Given the description of an element on the screen output the (x, y) to click on. 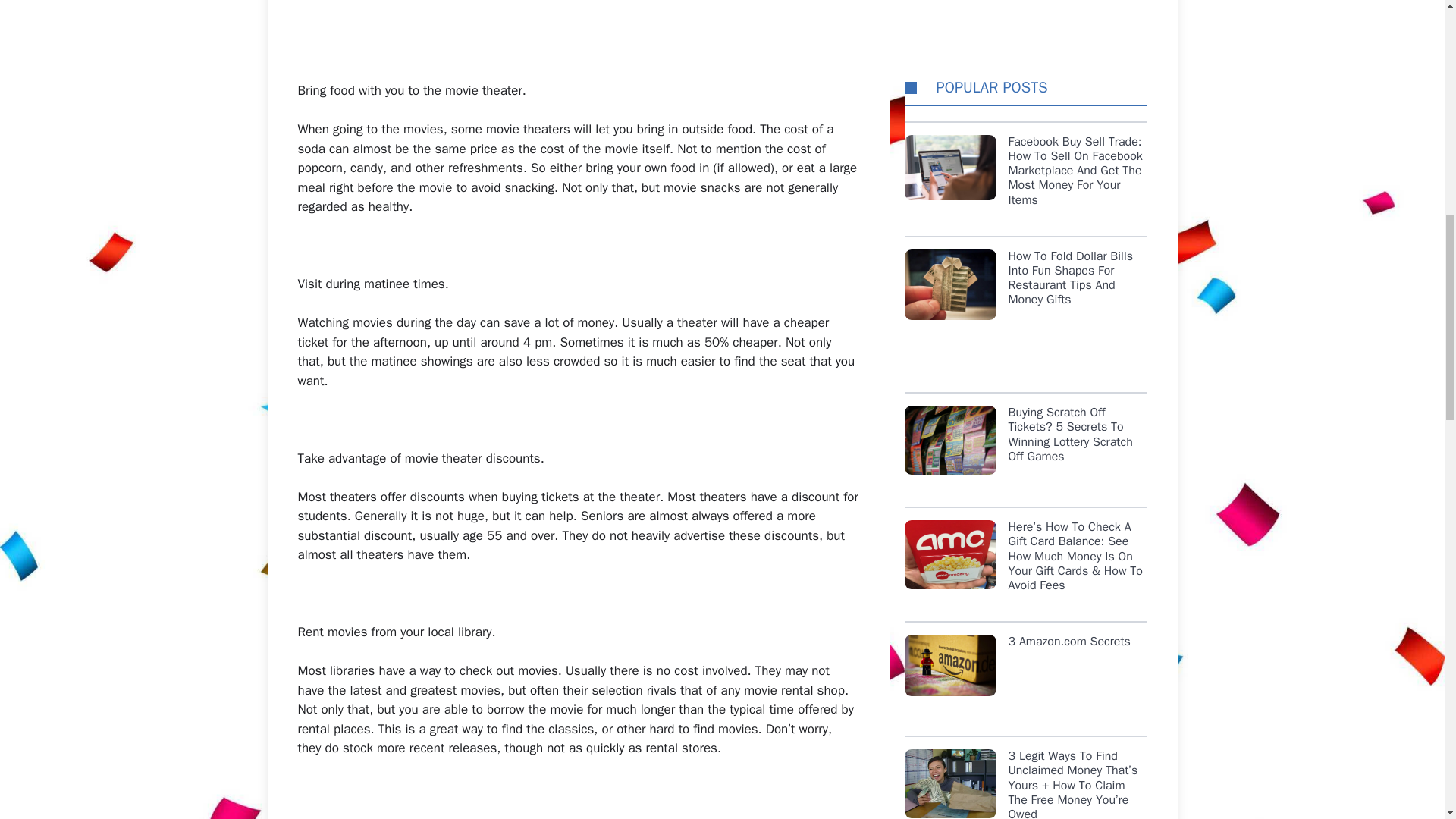
3 Amazon.com Secrets (1025, 171)
Scroll back to top (1406, 720)
